Given the description of an element on the screen output the (x, y) to click on. 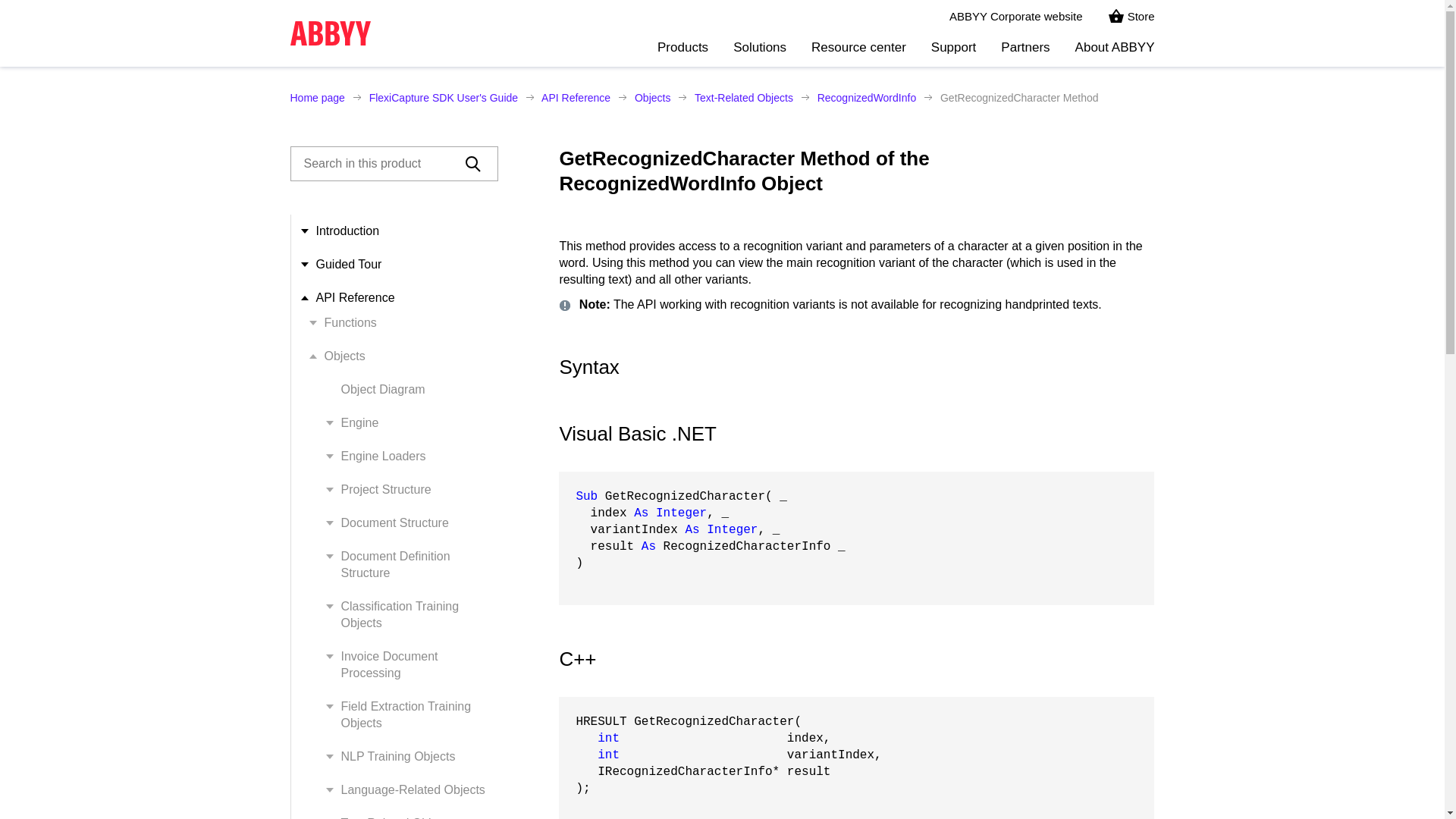
Text-Related Objects (743, 97)
Partners (1025, 52)
API Reference (575, 97)
Solutions (759, 52)
About ABBYY (1114, 52)
Buy ABBYY software (1131, 16)
Store (1131, 16)
ABBYY (329, 33)
Products (682, 52)
ABBYY Corporate website (1016, 16)
